Given the description of an element on the screen output the (x, y) to click on. 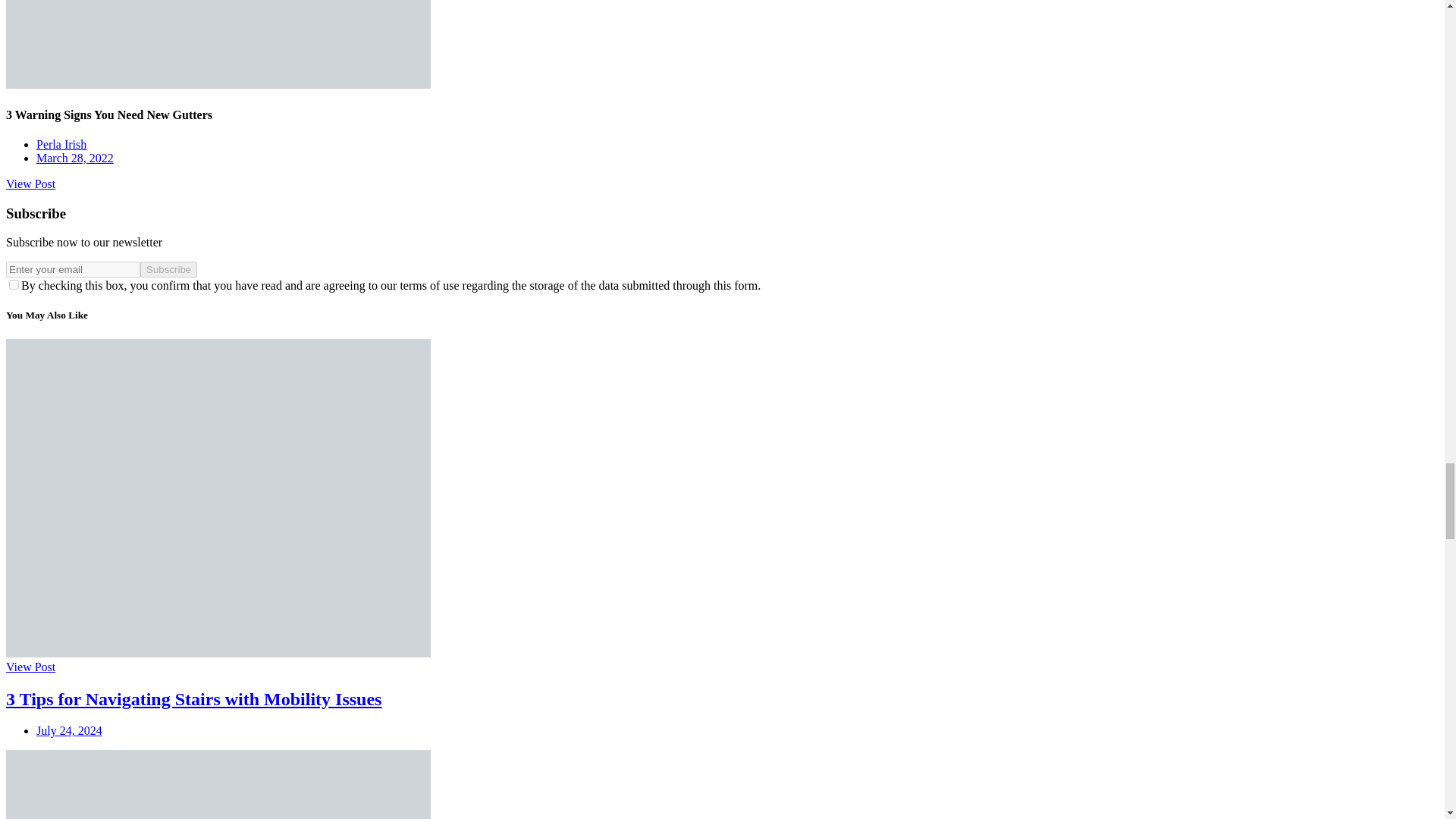
on (13, 284)
View all posts by Perla Irish (60, 144)
